Given the description of an element on the screen output the (x, y) to click on. 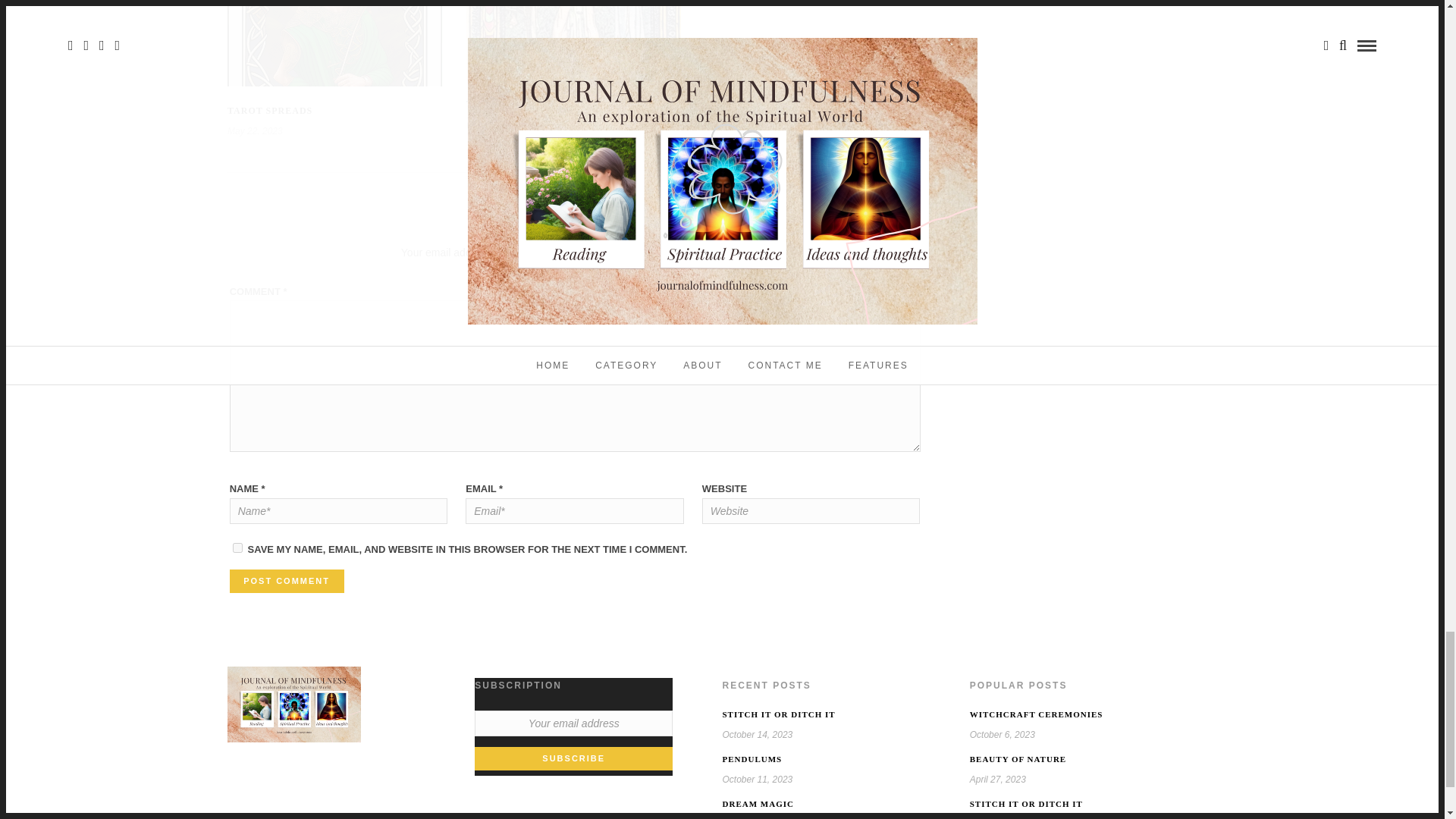
Post Comment (286, 581)
Tarot Spreads (270, 110)
SUBSCRIBE (573, 758)
TAROT SPREADS (270, 110)
The Cup Suit (501, 103)
yes (237, 547)
